Given the description of an element on the screen output the (x, y) to click on. 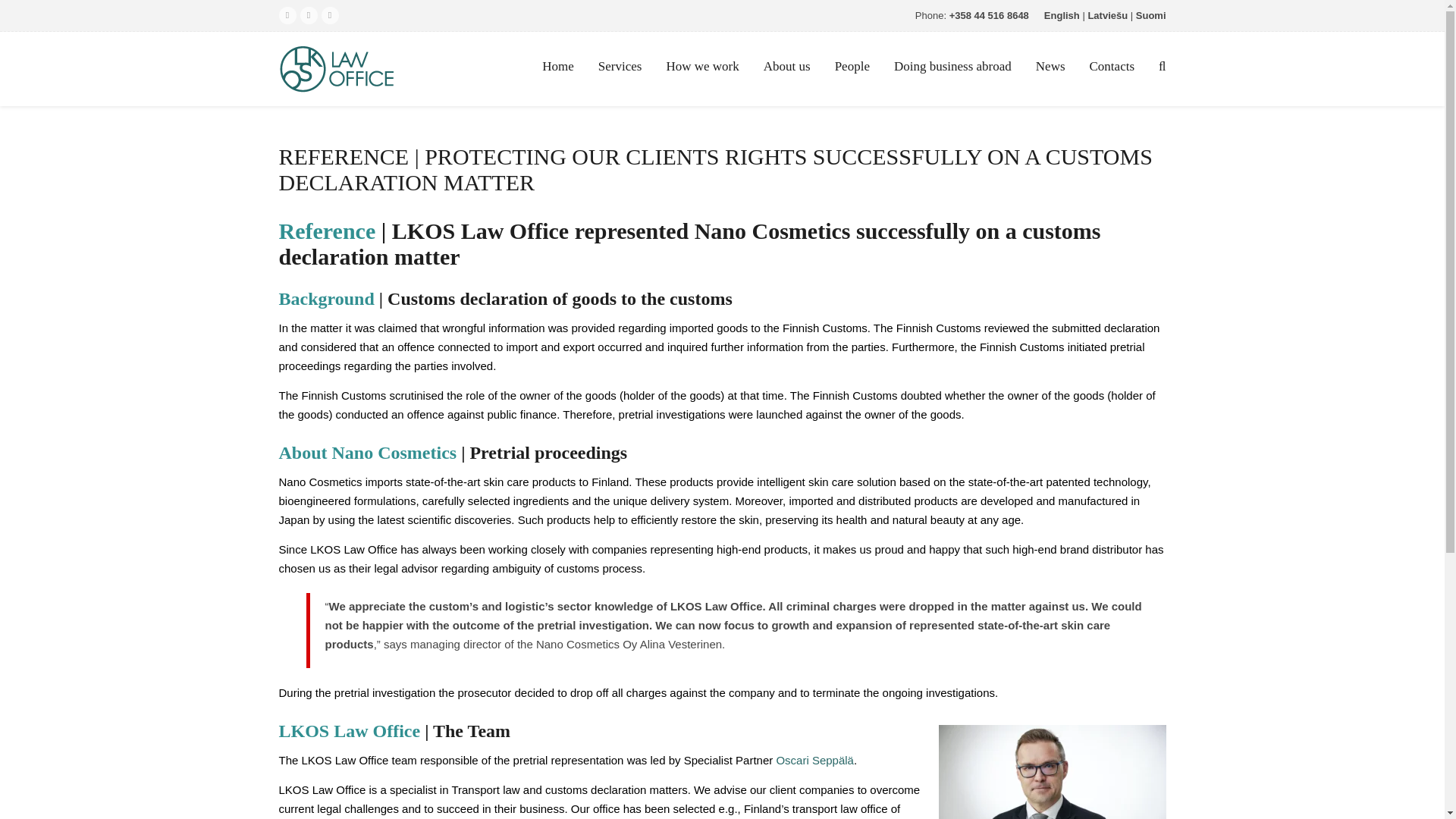
Services (619, 65)
News (1050, 65)
Doing business abroad (952, 65)
English (1061, 15)
People (852, 65)
Suomi (1150, 15)
About us (786, 65)
Home (557, 65)
How we work (702, 65)
Contacts (1112, 65)
